Given the description of an element on the screen output the (x, y) to click on. 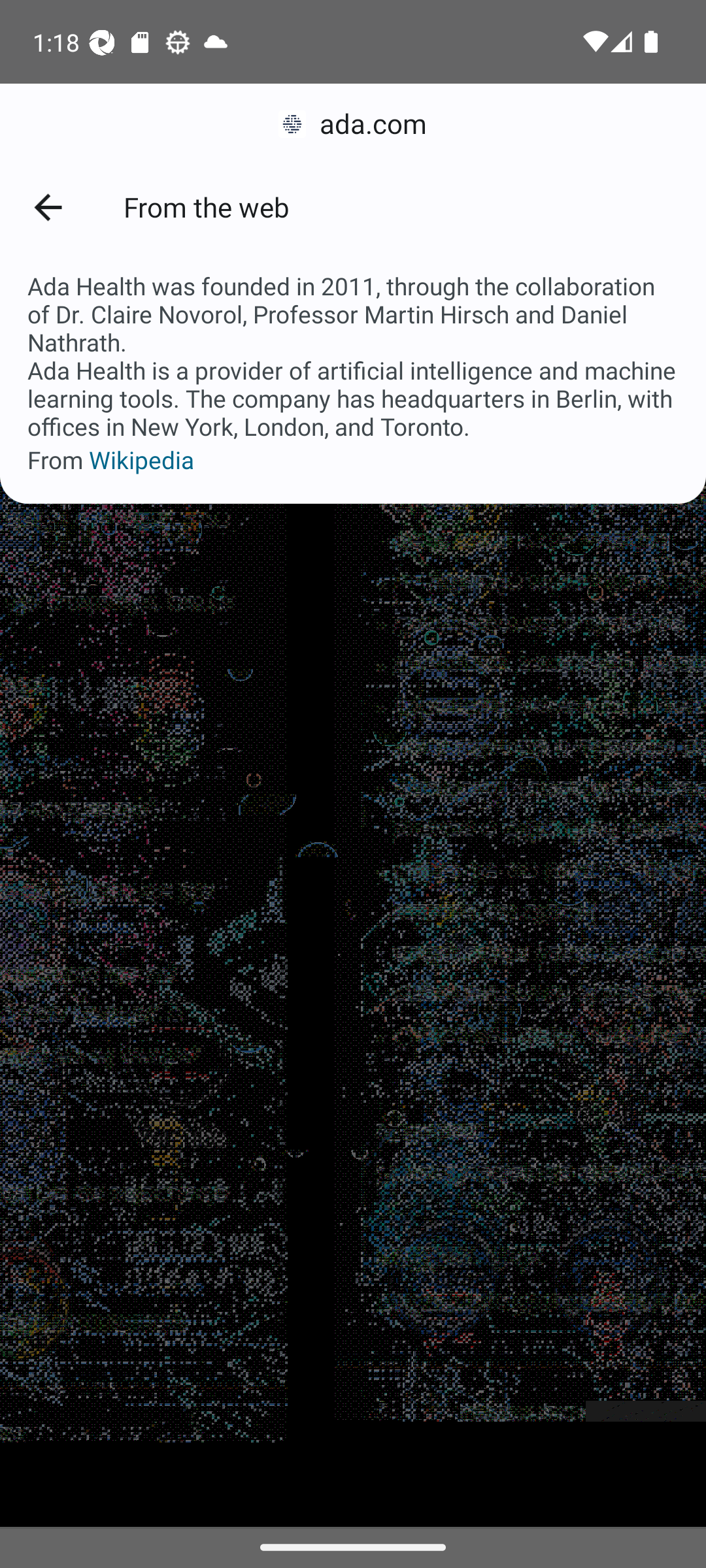
ada.com (353, 124)
Back (47, 206)
